Given the description of an element on the screen output the (x, y) to click on. 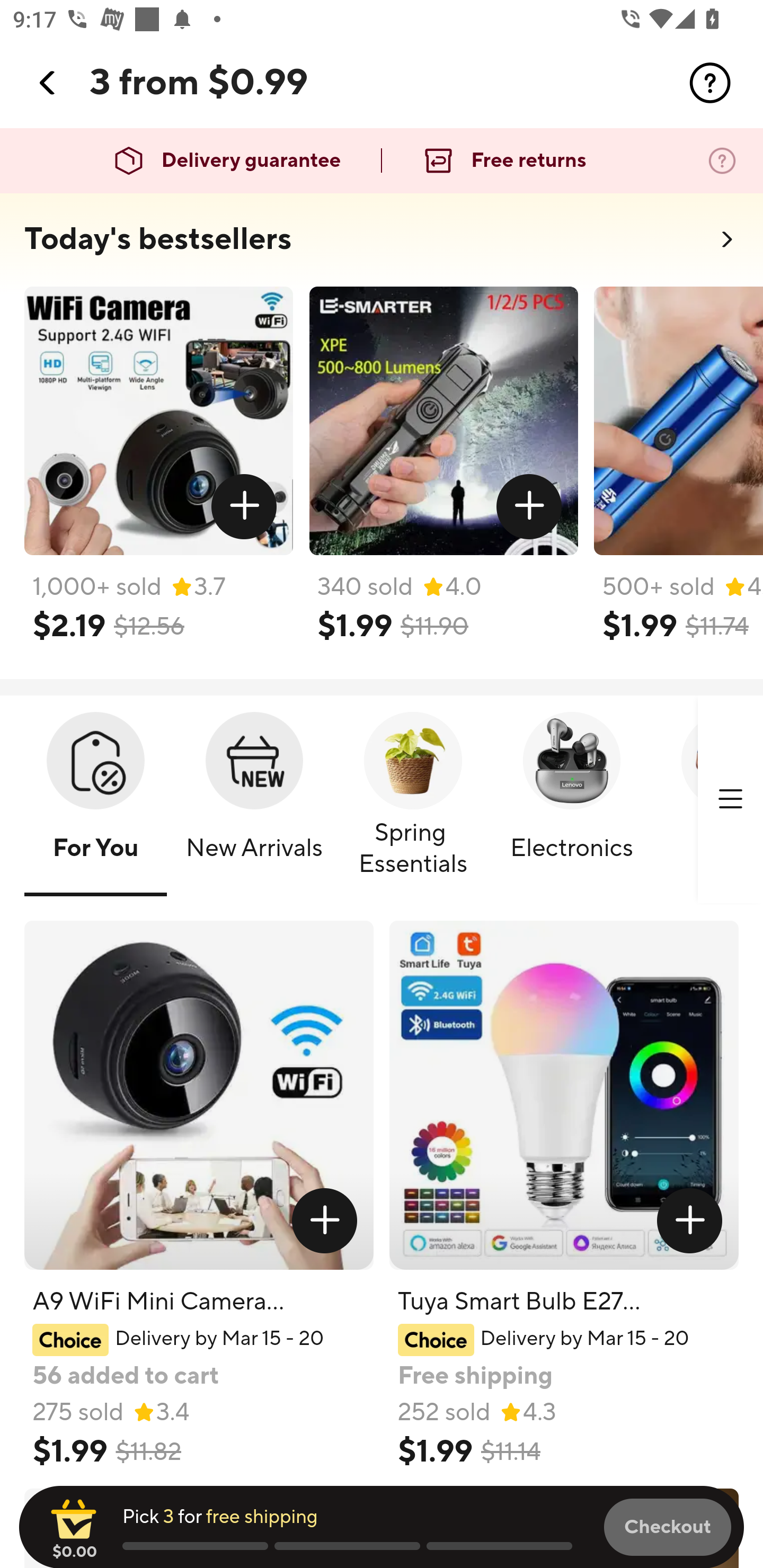
 (710, 82)
 (48, 82)
Today's bestsellers  Today's bestsellers  (381, 244)
Today's bestsellers (157, 239)
 (244, 506)
 (529, 506)
 (730, 799)
144x144.png_ For You (95, 800)
144x144.png_ New Arrivals (254, 800)
200x200.png_ Spring Essentials (412, 800)
300x300.png_ Electronics (571, 800)
 (323, 1220)
 (689, 1220)
